Given the description of an element on the screen output the (x, y) to click on. 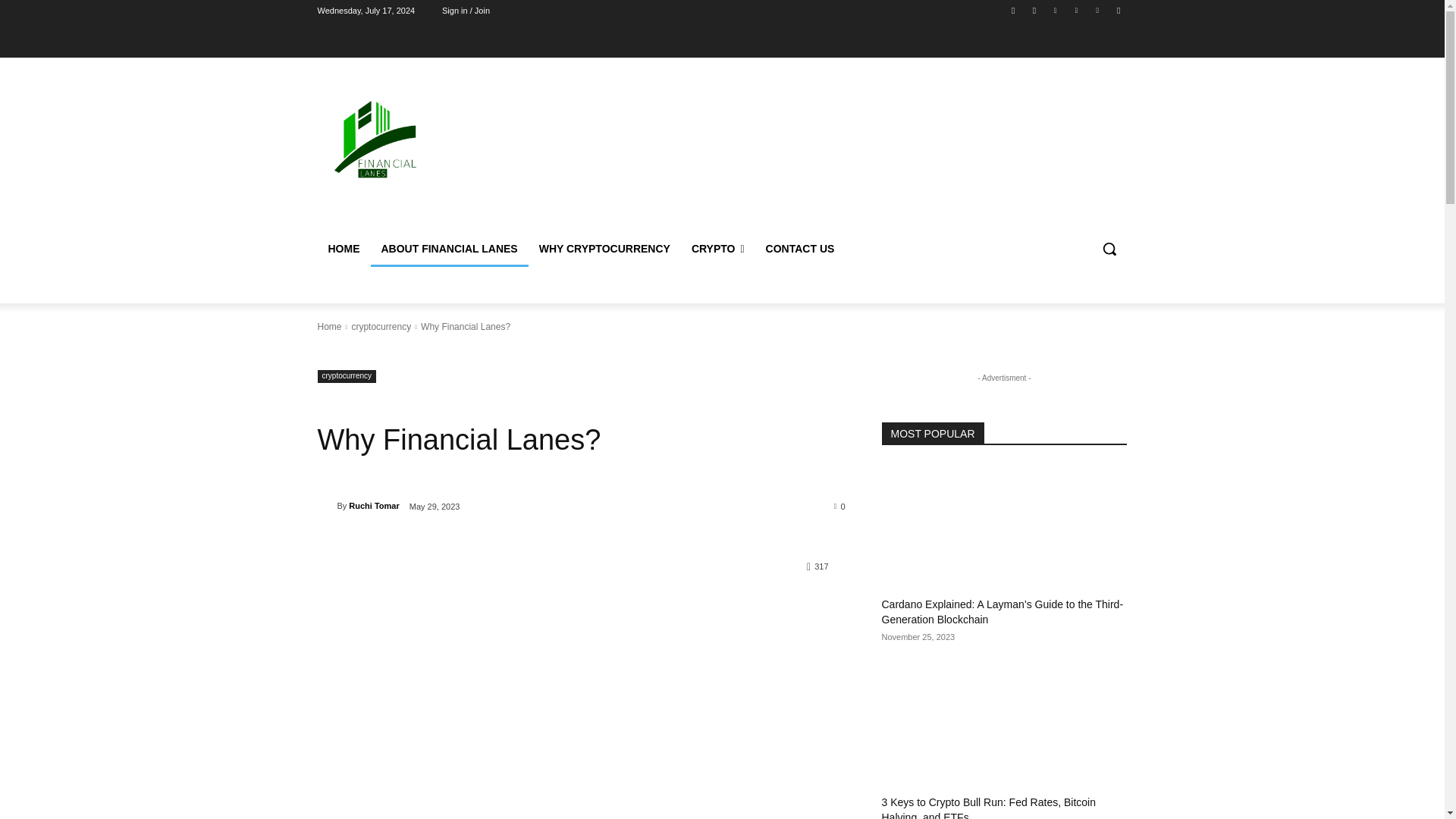
Facebook (1013, 9)
Linkedin (1055, 9)
View all posts in cryptocurrency (380, 326)
Pinterest (1075, 9)
Instagram (1034, 9)
Twitter (1097, 9)
Youtube (1117, 9)
